Given the description of an element on the screen output the (x, y) to click on. 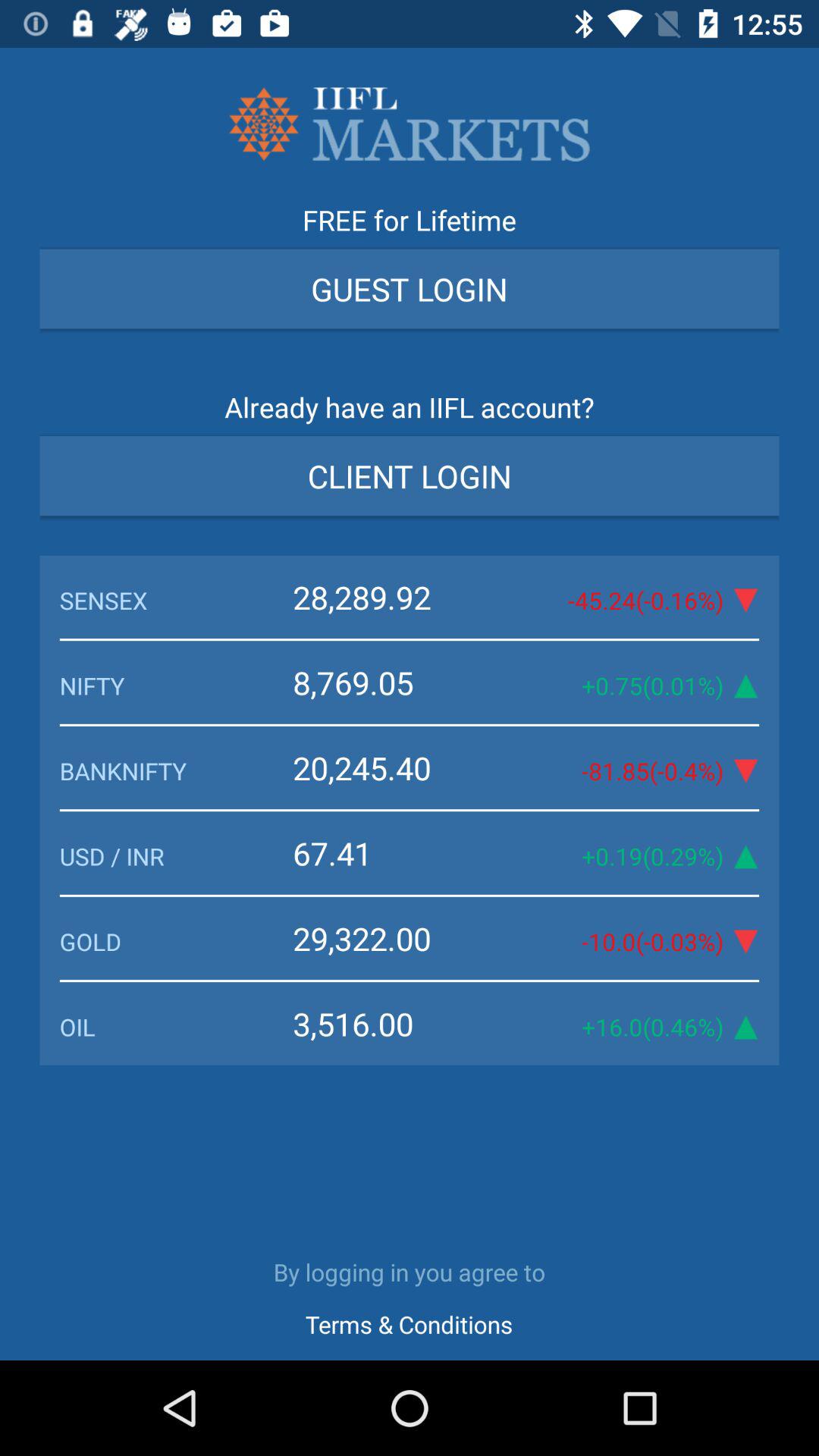
jump until guest login (409, 288)
